Given the description of an element on the screen output the (x, y) to click on. 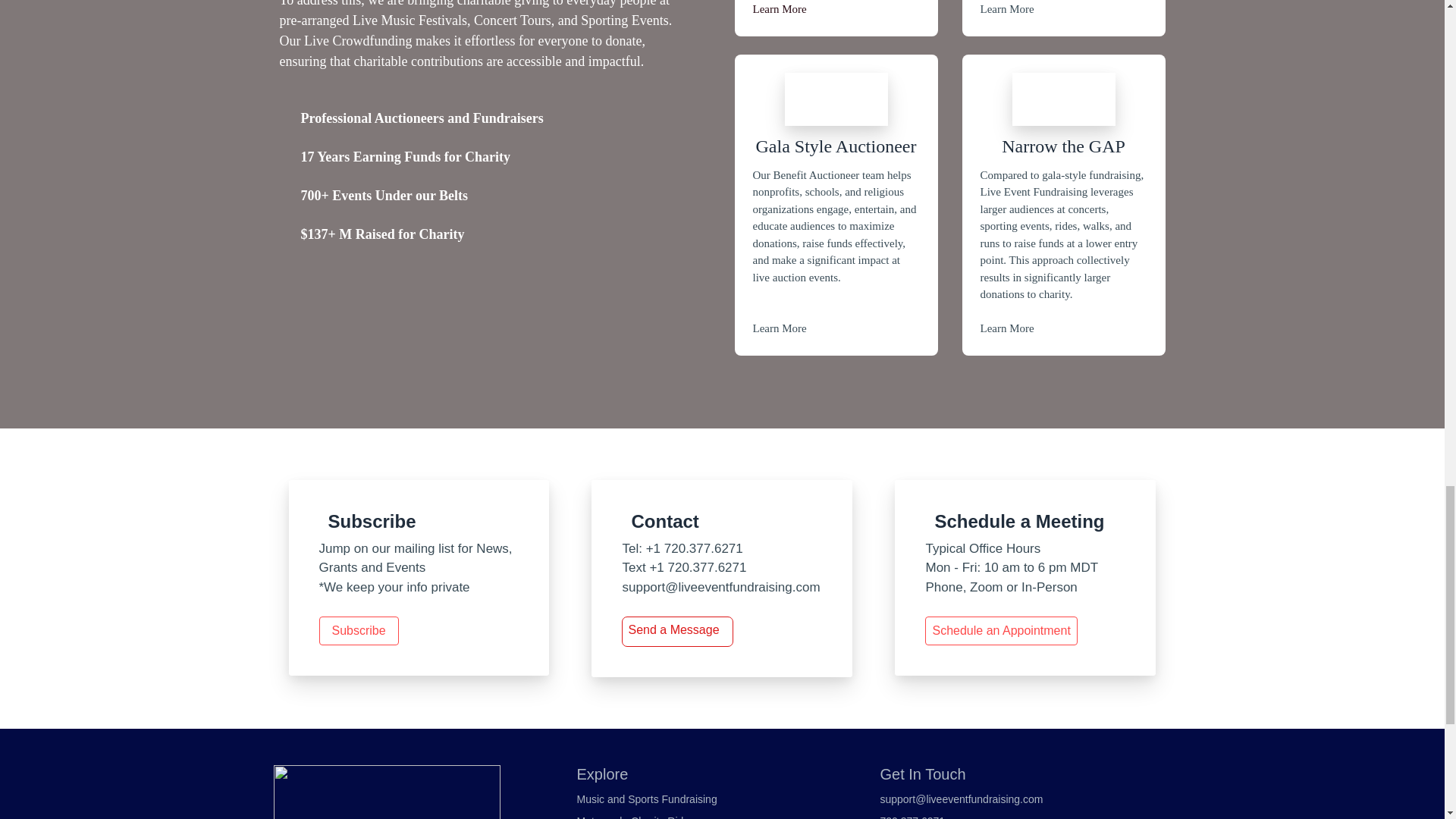
Music and Sports Fundraising (646, 799)
Send a Message (673, 629)
Schedule an Appointment (1000, 630)
Learn More (1006, 9)
Subscribe (357, 630)
720.377.6271 (911, 816)
Motorcycle Charity Rides (635, 816)
Learn More (1006, 328)
Learn More (779, 9)
Learn More (779, 328)
